Given the description of an element on the screen output the (x, y) to click on. 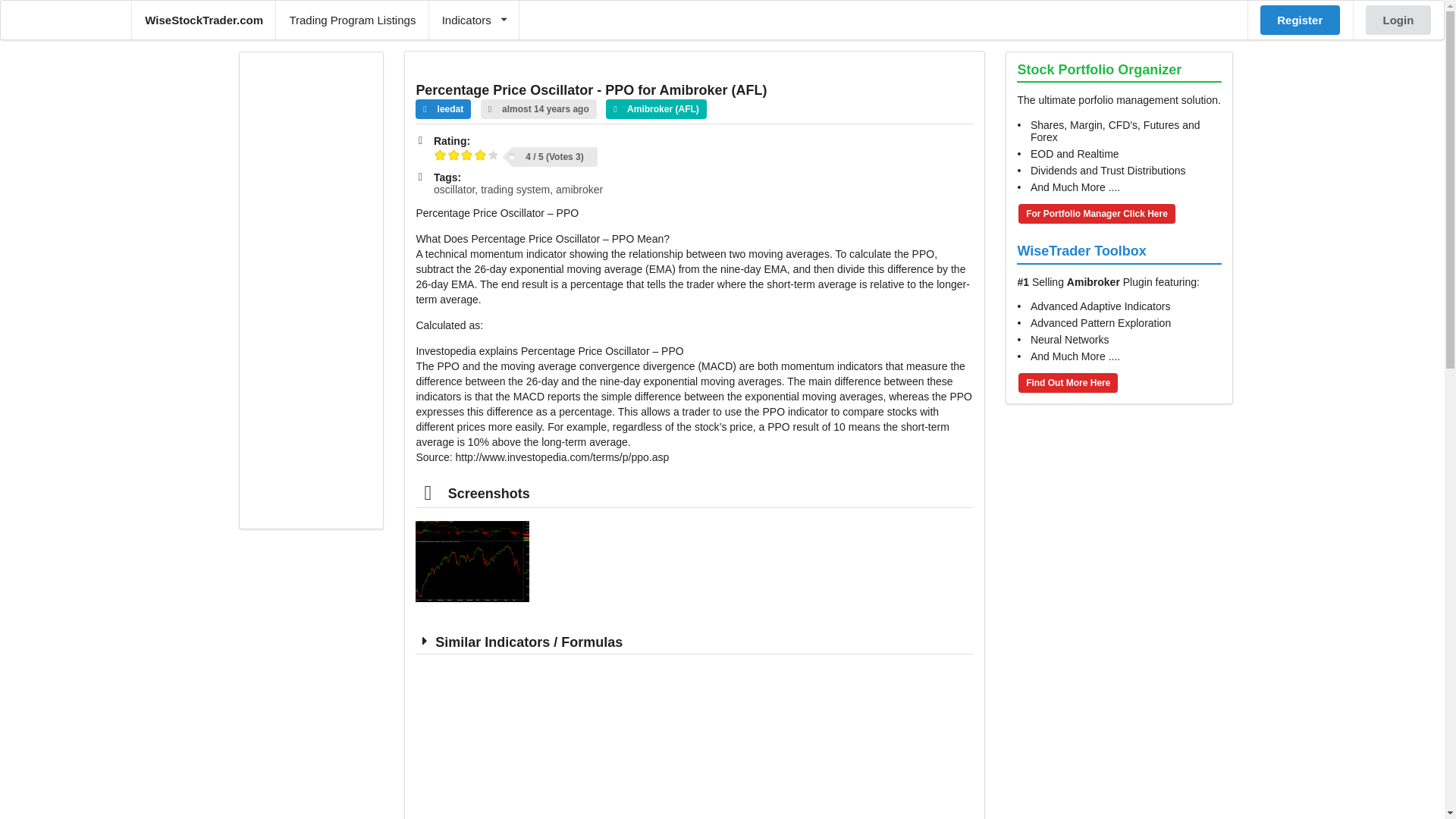
For Portfolio Manager Click Here (1095, 213)
Trading Program Listings (352, 19)
WiseStockTrader.com (203, 19)
leedat (442, 108)
Advertisement (310, 290)
Find Out More Here (1067, 383)
Register (1299, 19)
Advertisement (694, 742)
Login (1398, 19)
